Given the description of an element on the screen output the (x, y) to click on. 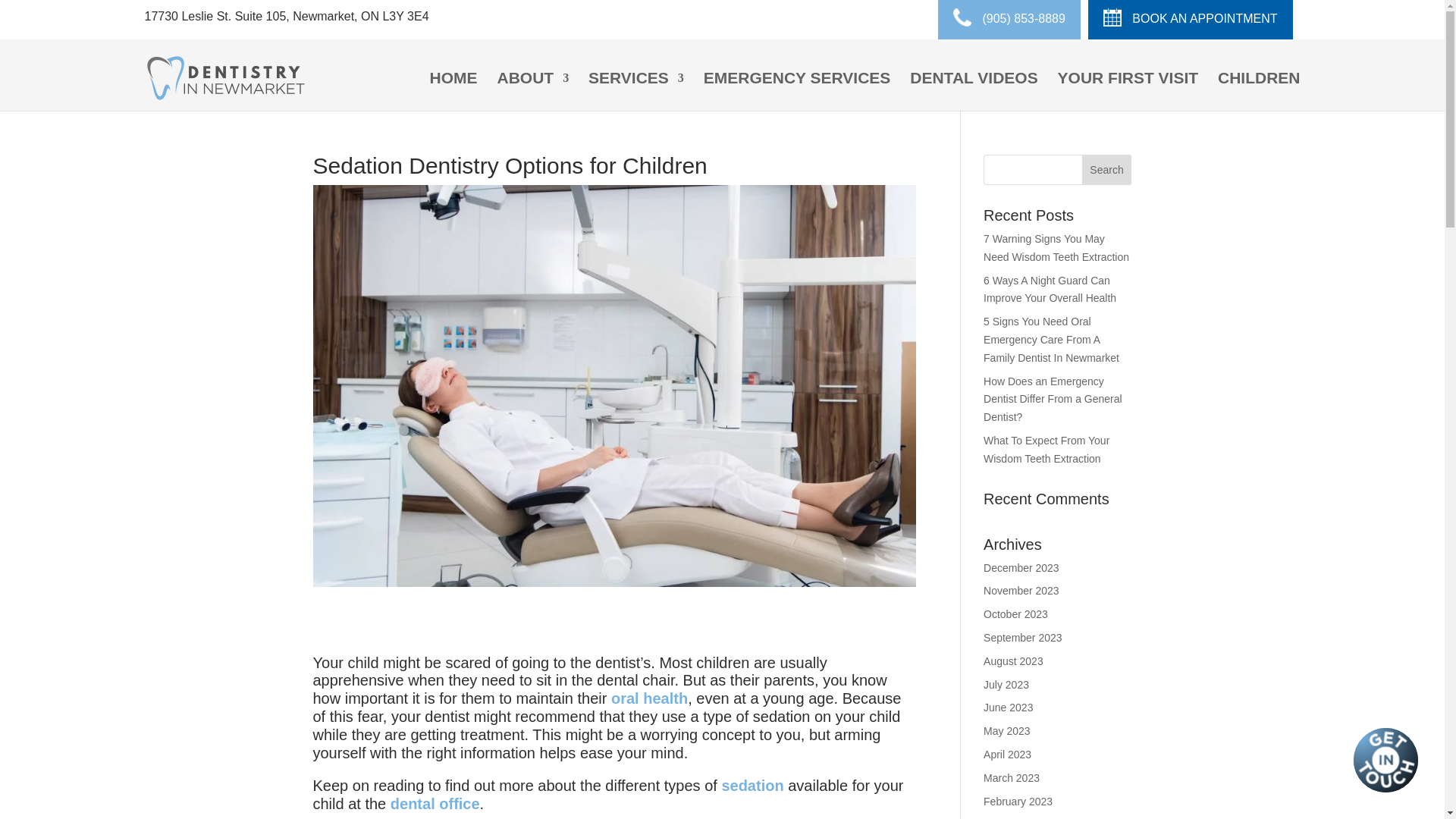
SERVICES (636, 89)
HOME (453, 89)
DENTAL VIDEOS (973, 89)
YOUR FIRST VISIT (1128, 89)
CHILDREN (1258, 89)
BOOK AN APPOINTMENT (1189, 19)
EMERGENCY SERVICES (797, 89)
Search (1106, 169)
ABOUT (532, 89)
